Given the description of an element on the screen output the (x, y) to click on. 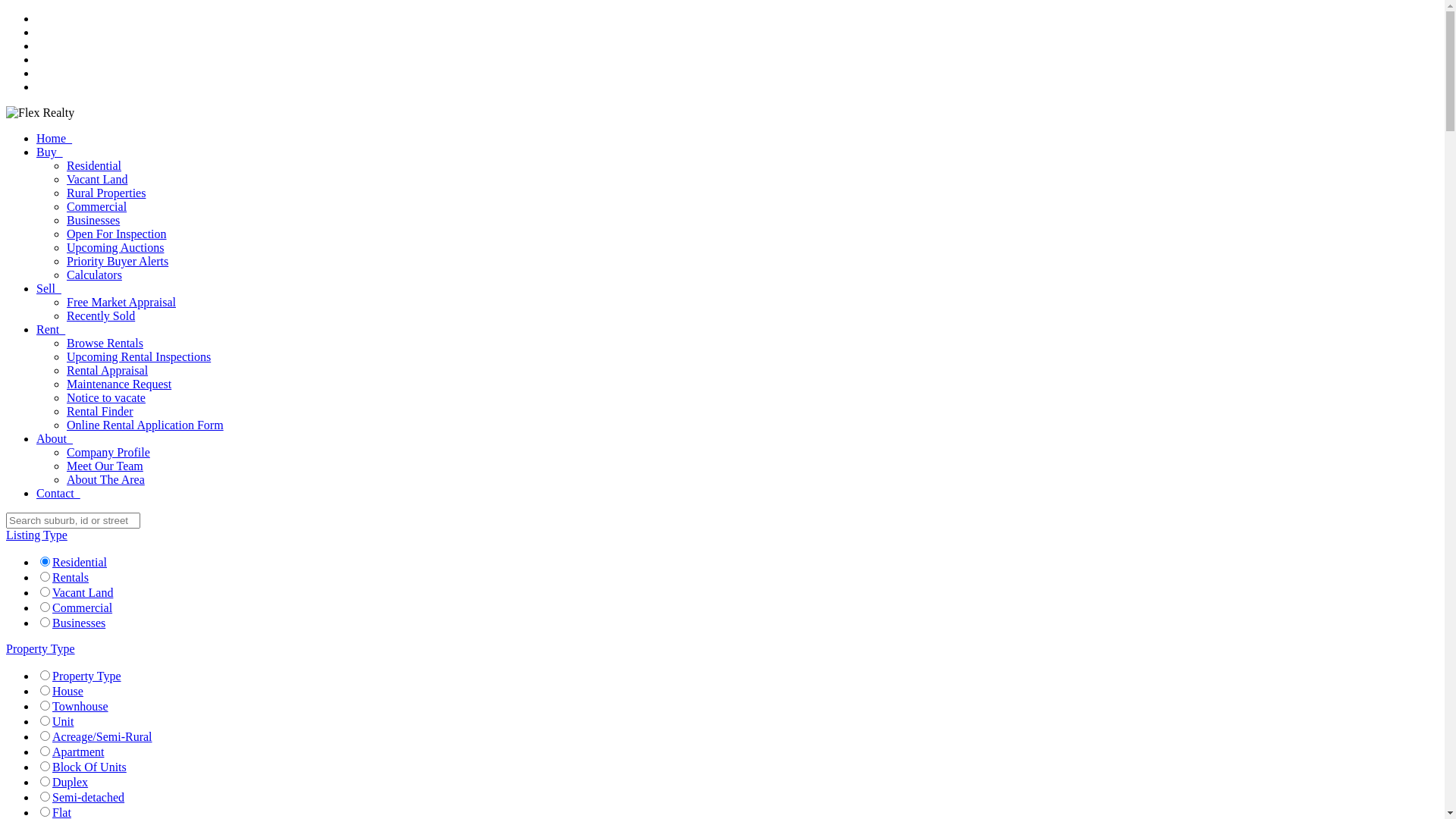
Residential Element type: text (93, 165)
Recently Sold Element type: text (100, 315)
Rural Properties Element type: text (105, 192)
About   Element type: text (54, 438)
Rental Appraisal Element type: text (106, 370)
Contact   Element type: text (58, 492)
Priority Buyer Alerts Element type: text (117, 260)
Businesses Element type: text (78, 622)
Apartment Element type: text (77, 751)
Unit Element type: text (62, 721)
Commercial Element type: text (82, 607)
Commercial Element type: text (96, 206)
Semi-detached Element type: text (88, 796)
Sell   Element type: text (48, 288)
Block Of Units Element type: text (89, 766)
Vacant Land Element type: text (96, 178)
Property Type Element type: text (86, 675)
Townhouse Element type: text (80, 705)
Buy   Element type: text (49, 151)
Vacant Land Element type: text (82, 592)
Businesses Element type: text (92, 219)
Home   Element type: text (54, 137)
Meet Our Team Element type: text (104, 465)
About The Area Element type: text (105, 479)
Maintenance Request Element type: text (118, 383)
Upcoming Auctions Element type: text (114, 247)
House Element type: text (67, 690)
Notice to vacate Element type: text (105, 397)
Browse Rentals Element type: text (104, 342)
Online Rental Application Form Element type: text (144, 424)
Acreage/Semi-Rural Element type: text (102, 736)
Free Market Appraisal Element type: text (120, 301)
Upcoming Rental Inspections Element type: text (138, 356)
Listing Type Element type: text (36, 534)
Residential Element type: text (79, 561)
Open For Inspection Element type: text (116, 233)
Duplex Element type: text (69, 781)
Rent   Element type: text (50, 329)
Rental Finder Element type: text (99, 410)
Company Profile Element type: text (108, 451)
Calculators Element type: text (94, 274)
Rentals Element type: text (70, 577)
Property Type Element type: text (40, 648)
